Given the description of an element on the screen output the (x, y) to click on. 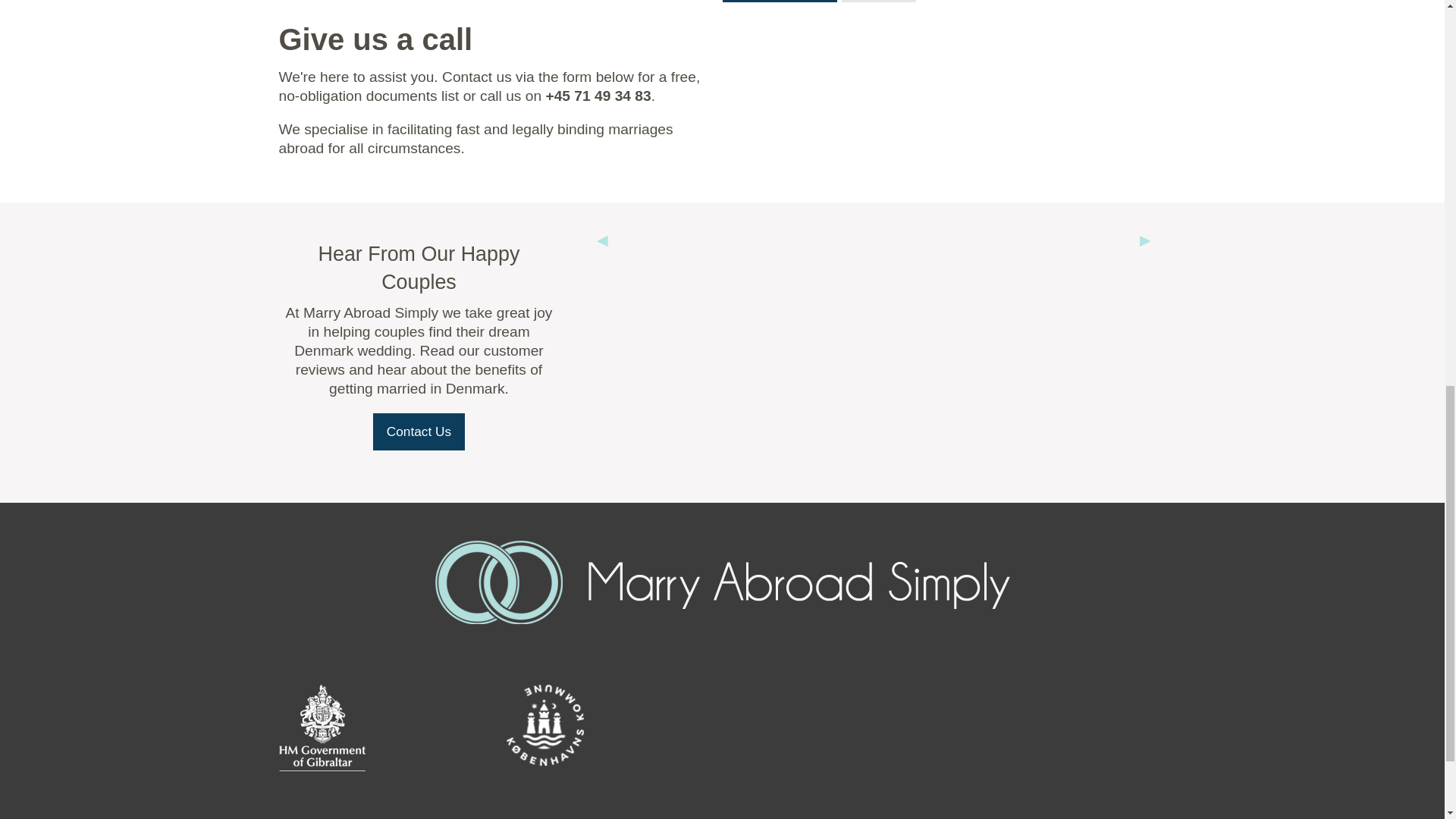
Send message (779, 1)
Contact Us (418, 431)
Preview (878, 1)
Send message (779, 1)
Preview (878, 1)
